Given the description of an element on the screen output the (x, y) to click on. 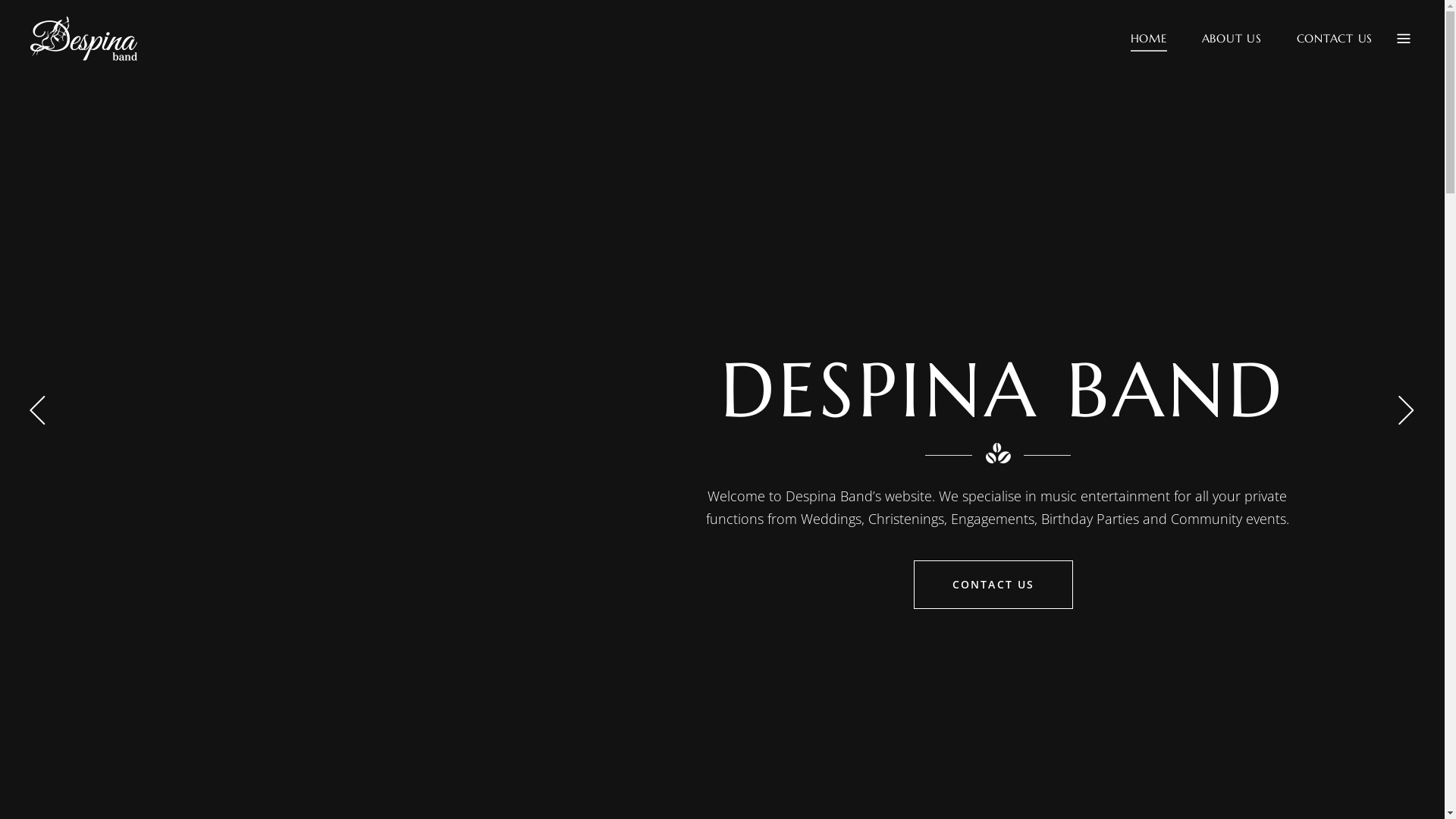
CONTACT US Element type: text (1334, 37)
HOME Element type: text (1148, 37)
ABOUT US Element type: text (1231, 37)
CONTACT US Element type: text (993, 584)
